Given the description of an element on the screen output the (x, y) to click on. 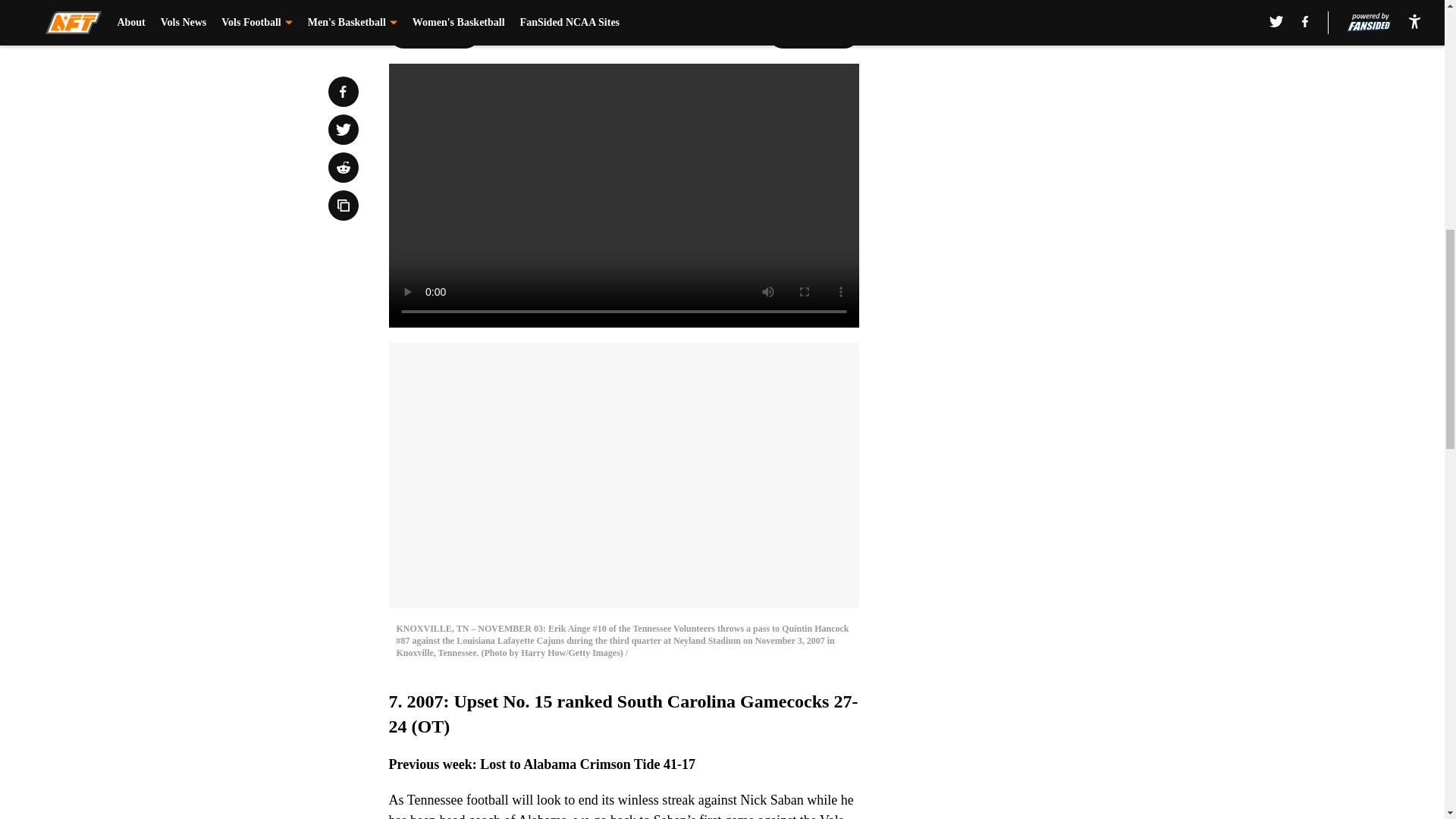
Prev (433, 33)
3rd party ad content (1047, 332)
3rd party ad content (1047, 113)
Next (813, 33)
